Given the description of an element on the screen output the (x, y) to click on. 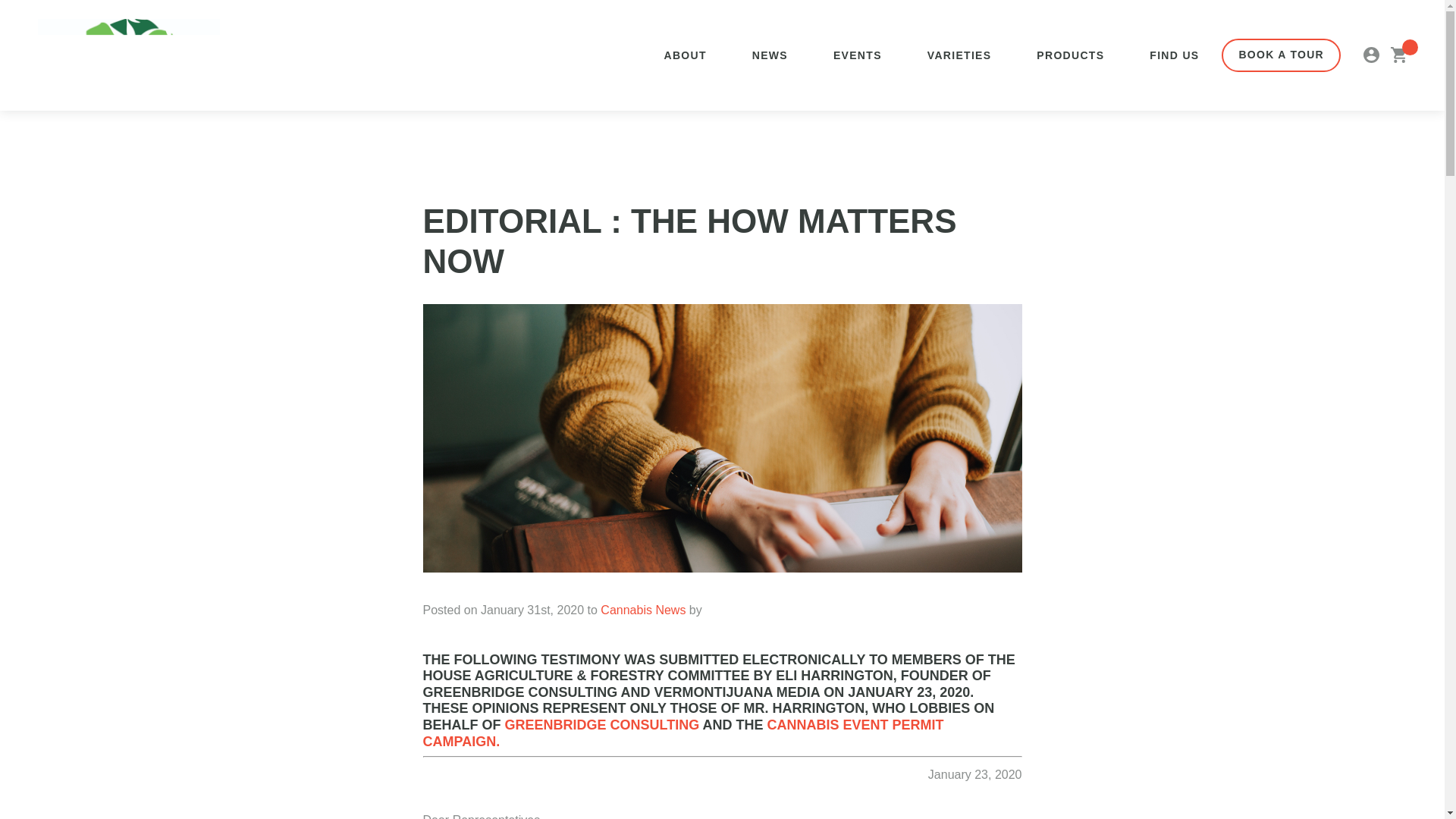
my account (1370, 54)
NEWS (769, 54)
BOOK A TOUR (1280, 55)
VARIETIES (959, 54)
GREENBRIDGE CONSULTING (602, 724)
CANNABIS EVENT PERMIT CAMPAIGN. (683, 733)
Cannabis News (642, 609)
home (128, 54)
EVENTS (857, 54)
